Given the description of an element on the screen output the (x, y) to click on. 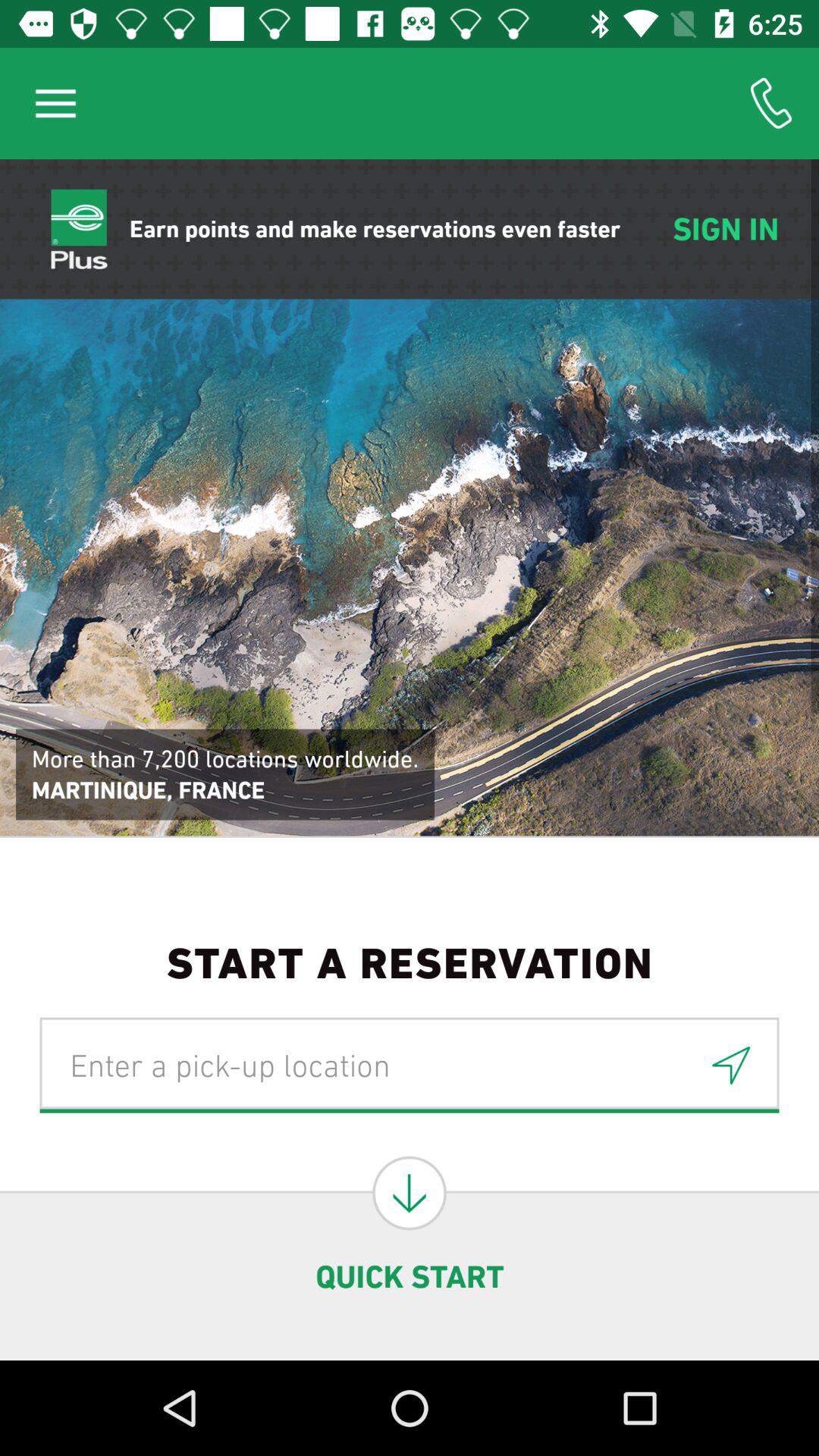
tap the item next to earn points and icon (55, 103)
